Given the description of an element on the screen output the (x, y) to click on. 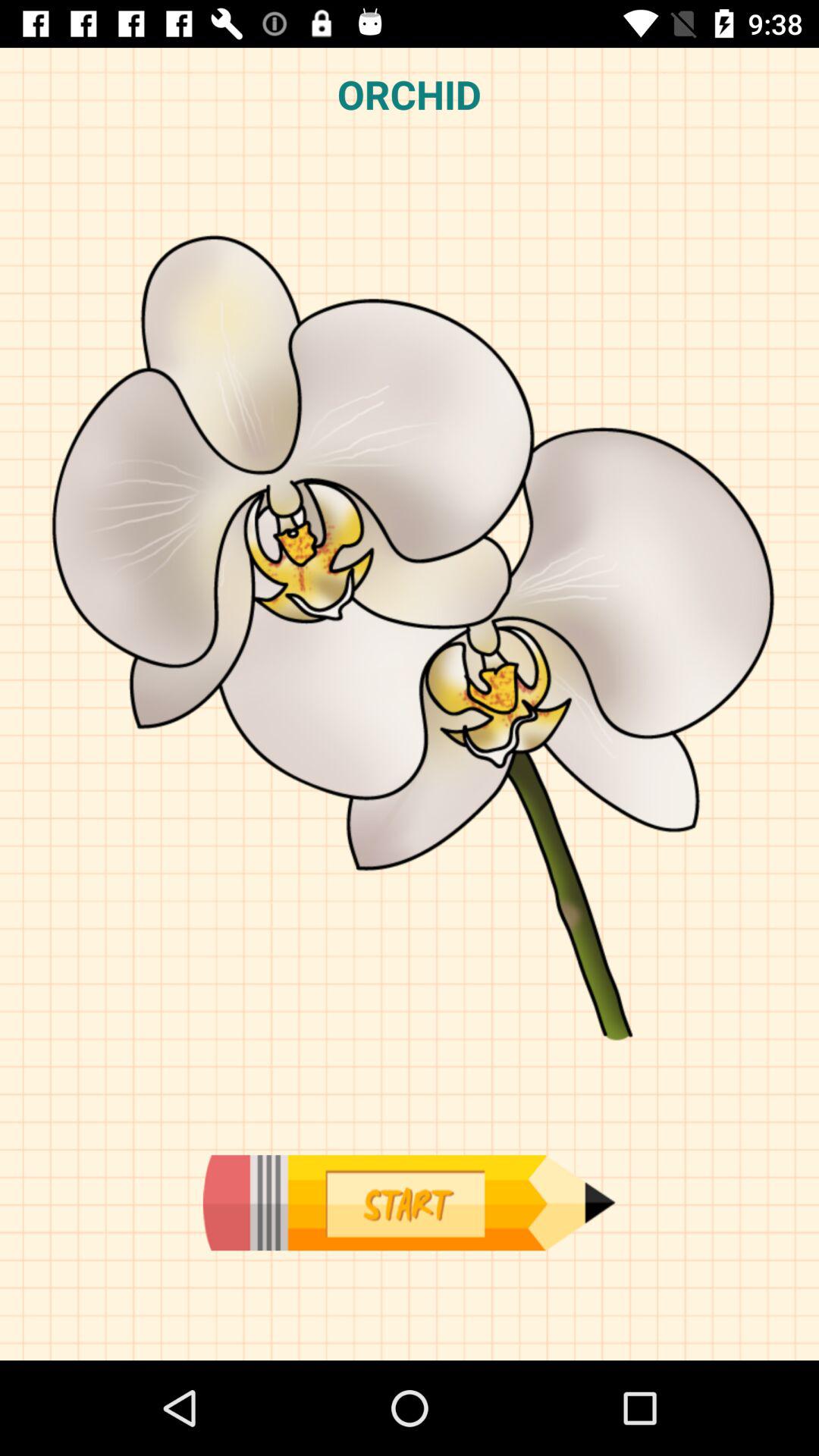
select start button (409, 1202)
